Given the description of an element on the screen output the (x, y) to click on. 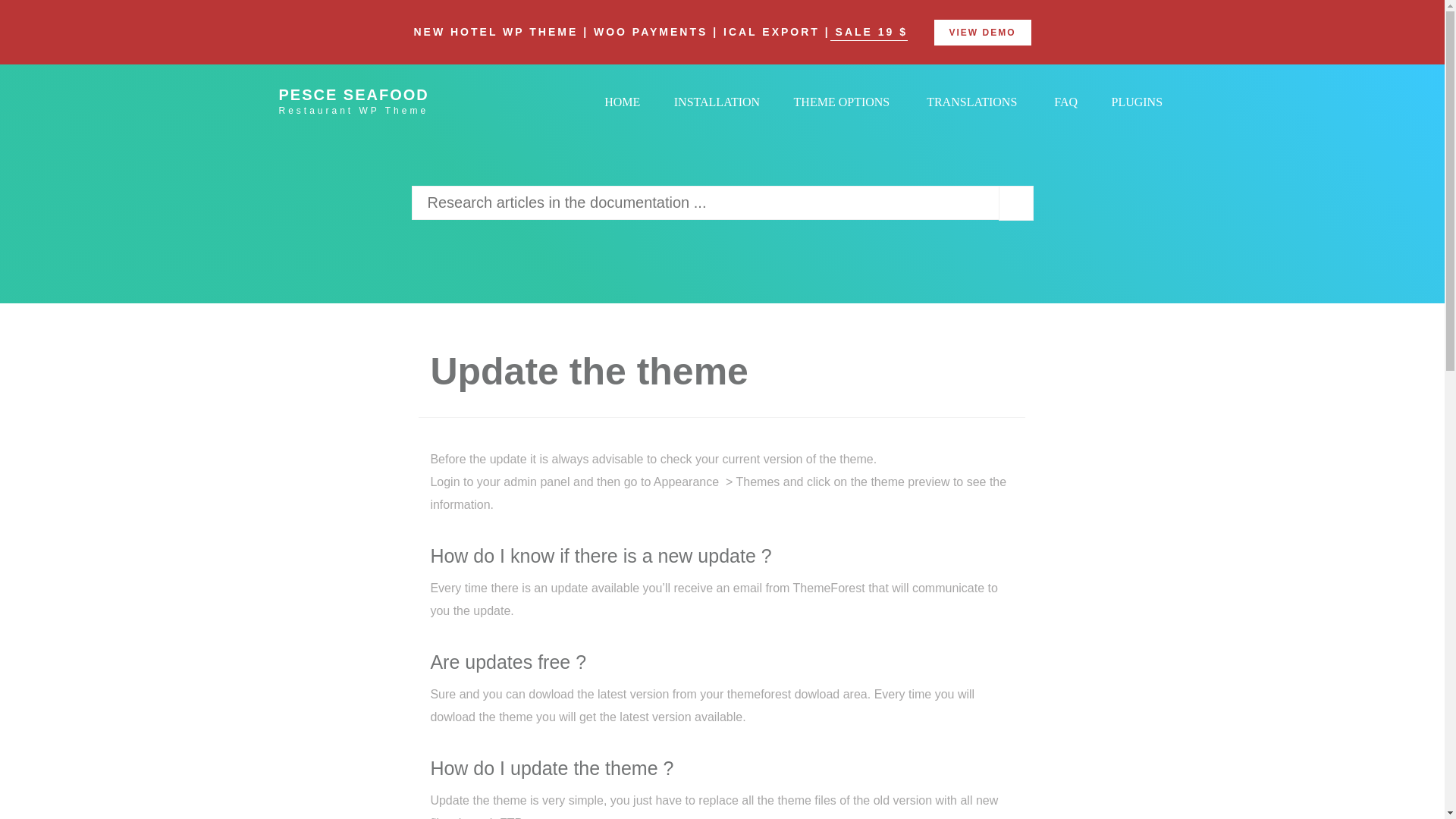
Restaurant WP Theme (381, 108)
HOME (622, 101)
PLUGINS (1135, 101)
PESCE SEAFOOD (381, 89)
TRANSLATIONS (971, 101)
VIEW DEMO (982, 32)
FAQ (1065, 101)
THEME OPTIONS (841, 101)
INSTALLATION (717, 101)
